Given the description of an element on the screen output the (x, y) to click on. 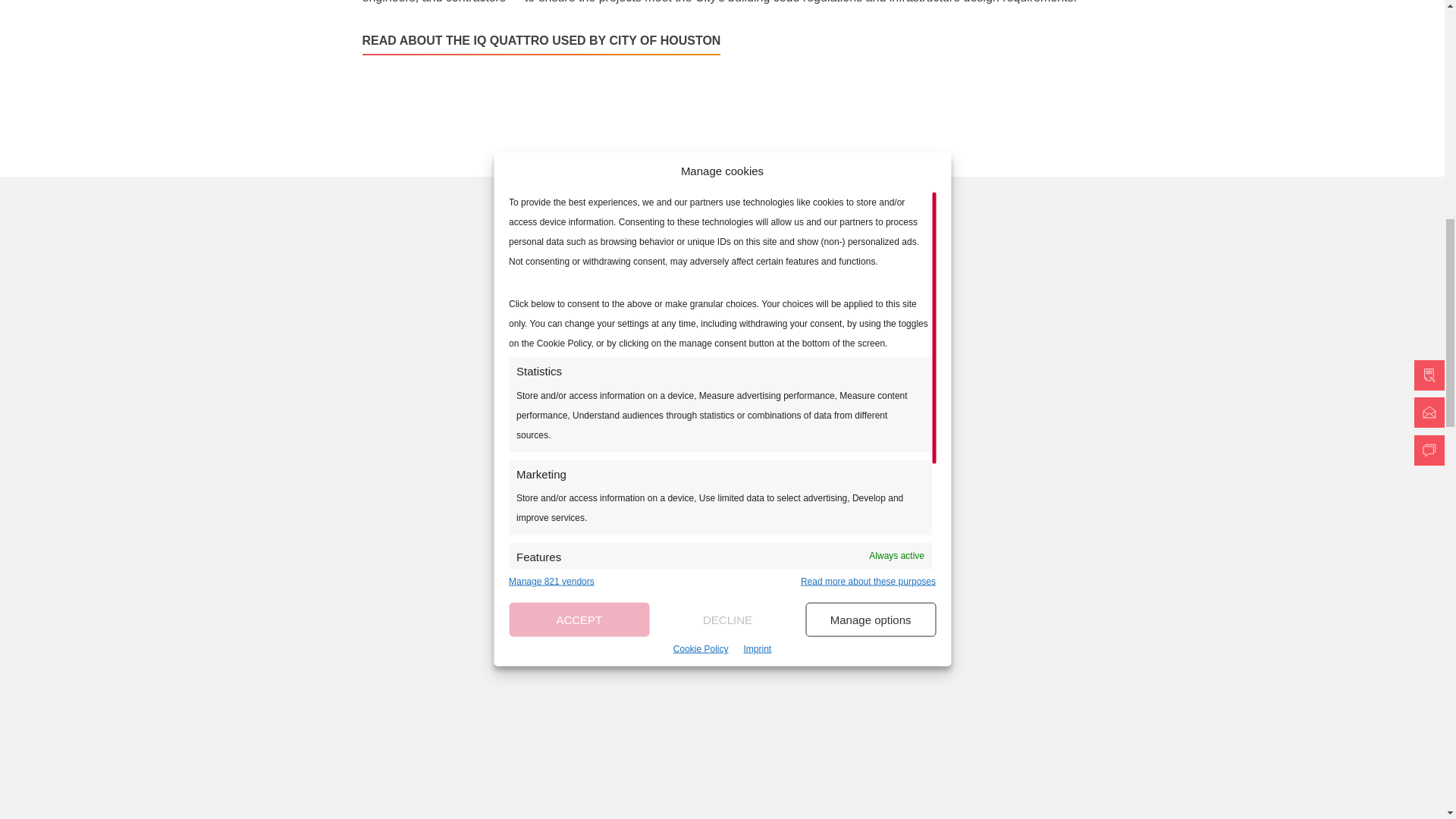
READ ABOUT THE IQ QUATTRO USED BY CITY OF HOUSTON (541, 44)
